Given the description of an element on the screen output the (x, y) to click on. 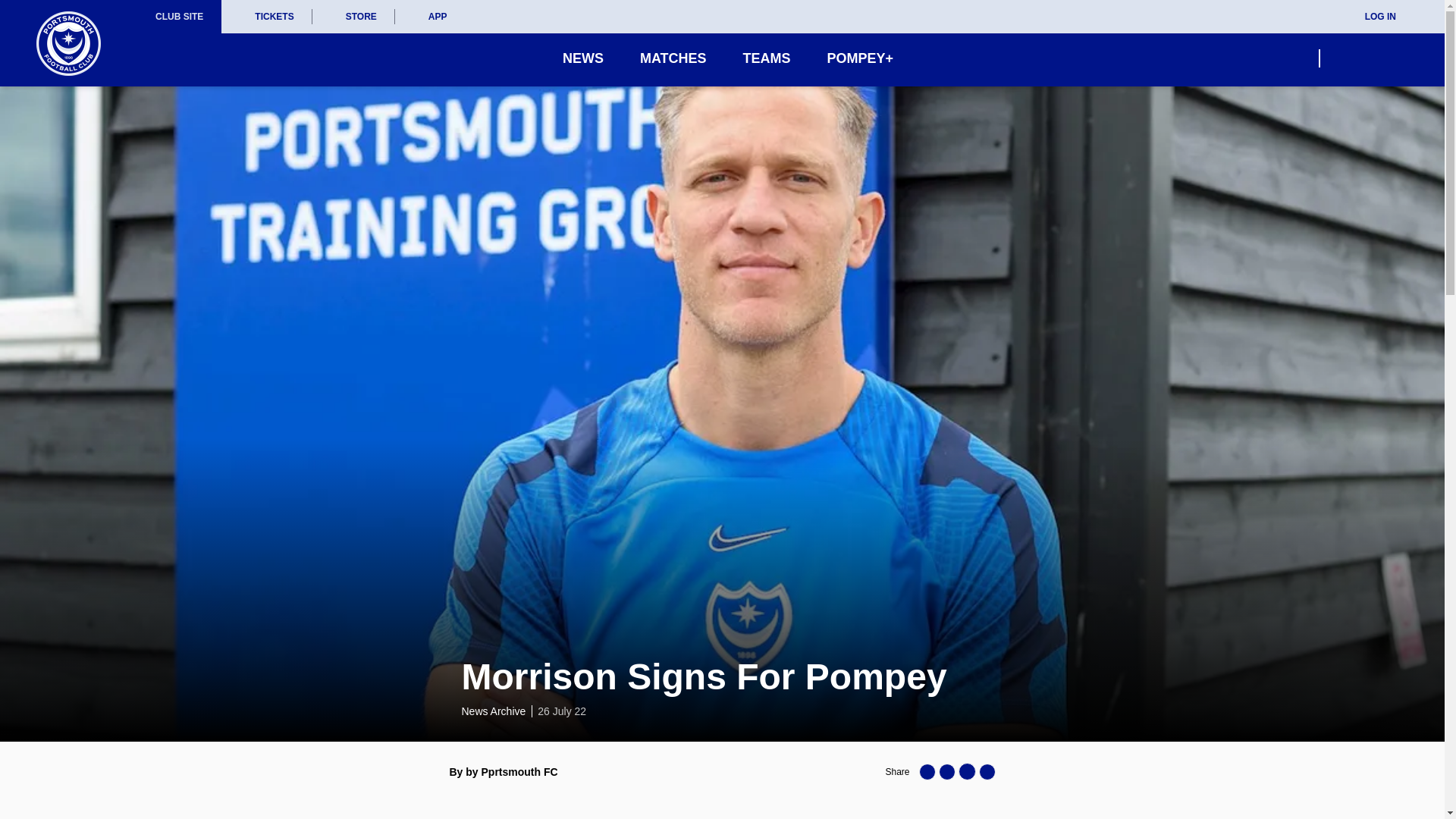
TICKETS (266, 16)
CLUB SITE (178, 16)
APP (429, 16)
STORE (353, 16)
MATCHES (673, 58)
TEAMS (766, 58)
